Given the description of an element on the screen output the (x, y) to click on. 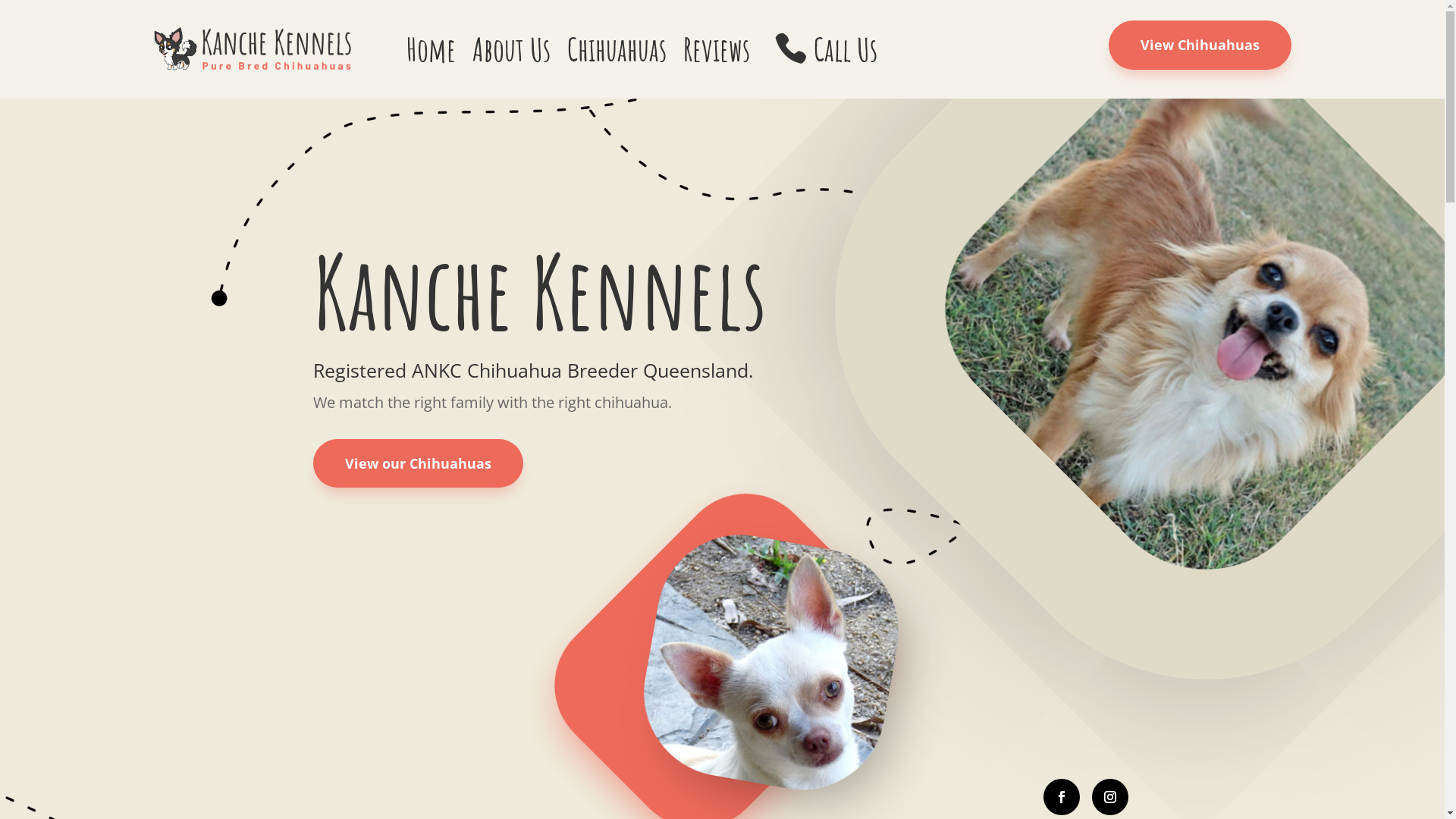
Follow on Instagram Element type: hover (1110, 796)
Follow on Facebook Element type: hover (1061, 796)
Chihuahuas Element type: text (616, 49)
Home Element type: text (430, 49)
View our Chihuahuas Element type: text (417, 463)
Call Us Element type: text (821, 49)
View Chihuahuas Element type: text (1199, 44)
About Us Element type: text (511, 49)
Reviews Element type: text (716, 49)
